Given the description of an element on the screen output the (x, y) to click on. 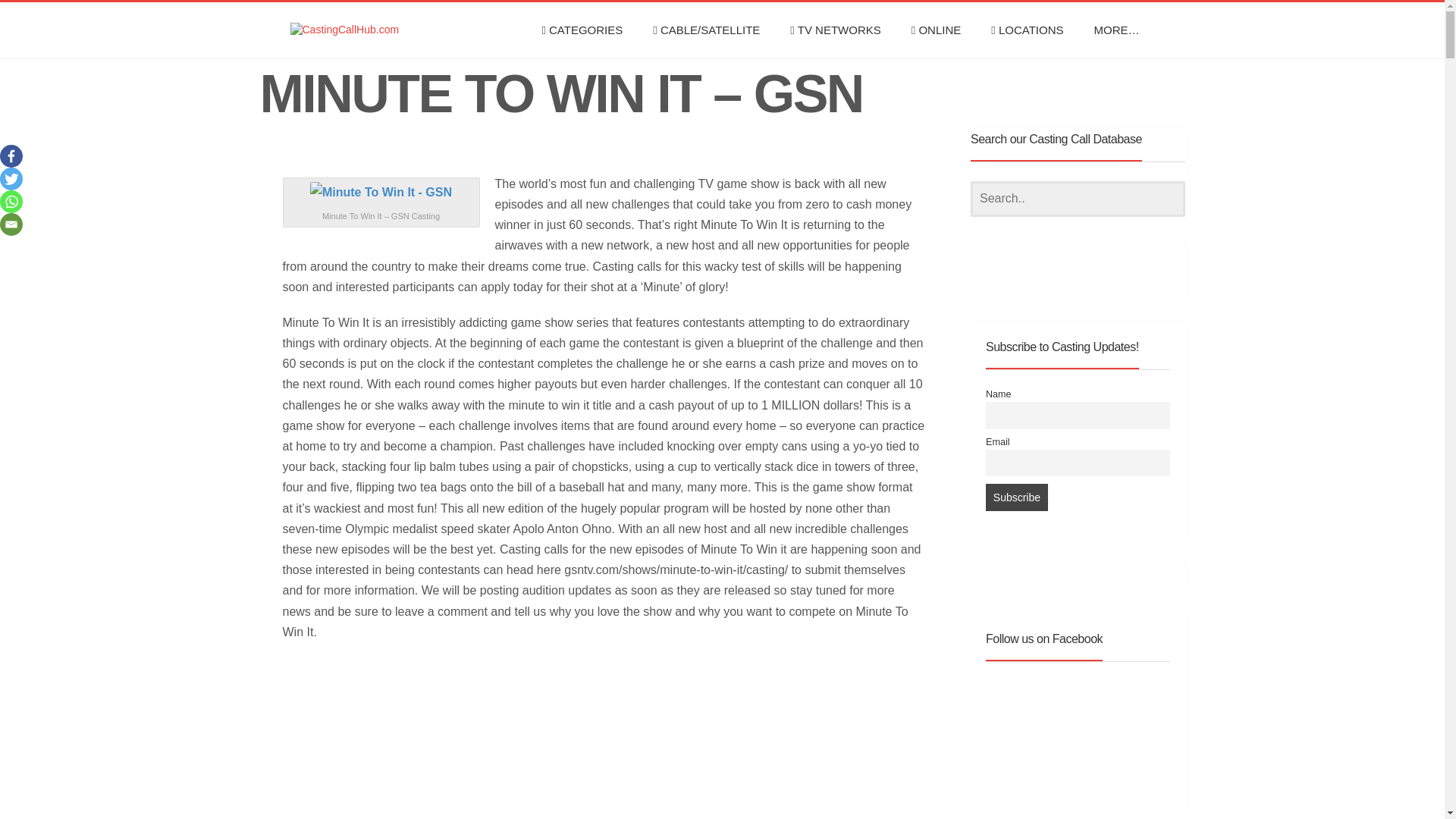
Twitter (11, 178)
CATEGORIES (581, 29)
Whatsapp (11, 201)
Subscribe (1016, 497)
Email (11, 223)
Facebook (11, 155)
CastingCallHub.com (351, 30)
